Given the description of an element on the screen output the (x, y) to click on. 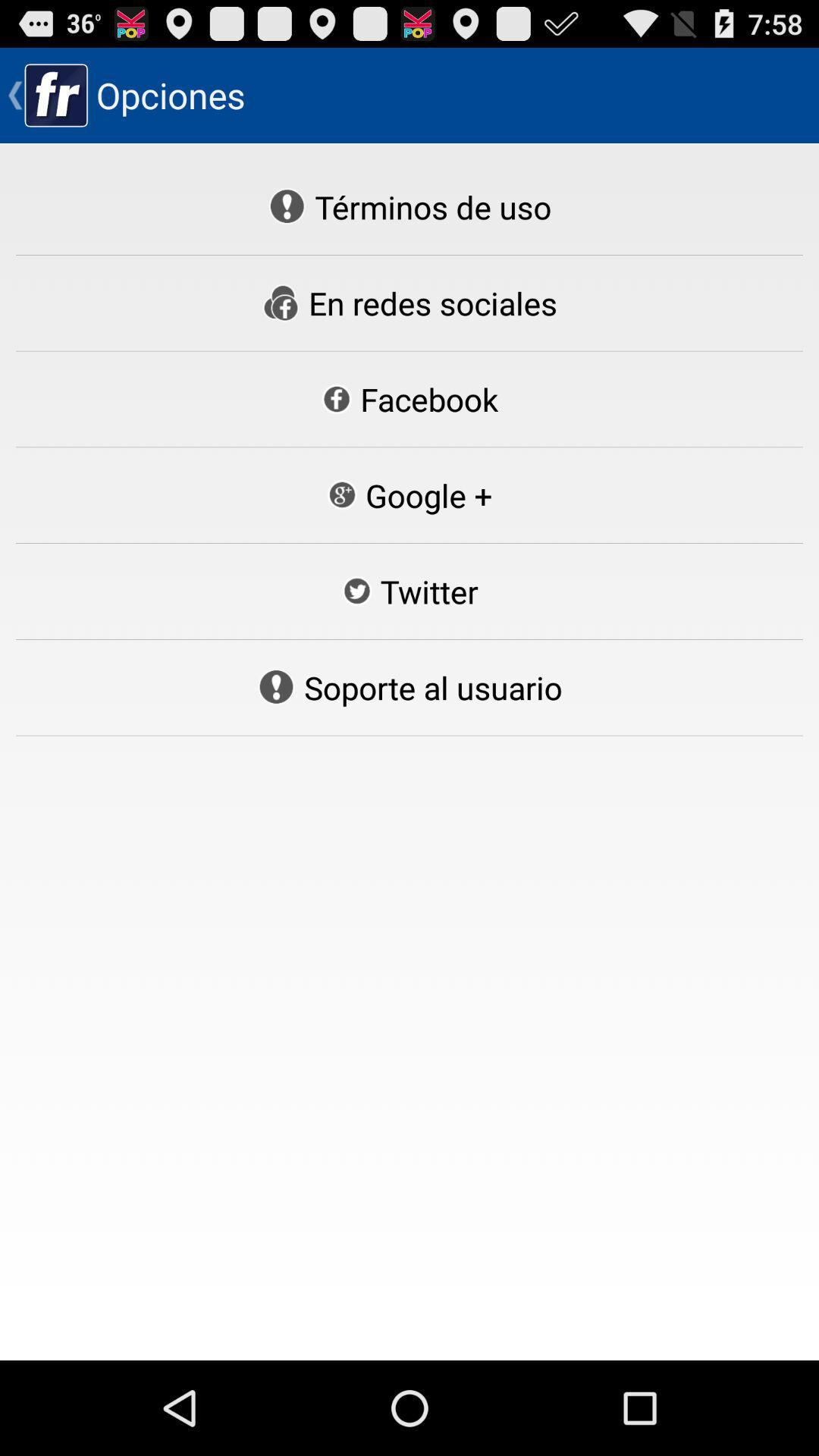
turn on soporte al usuario item (409, 687)
